Given the description of an element on the screen output the (x, y) to click on. 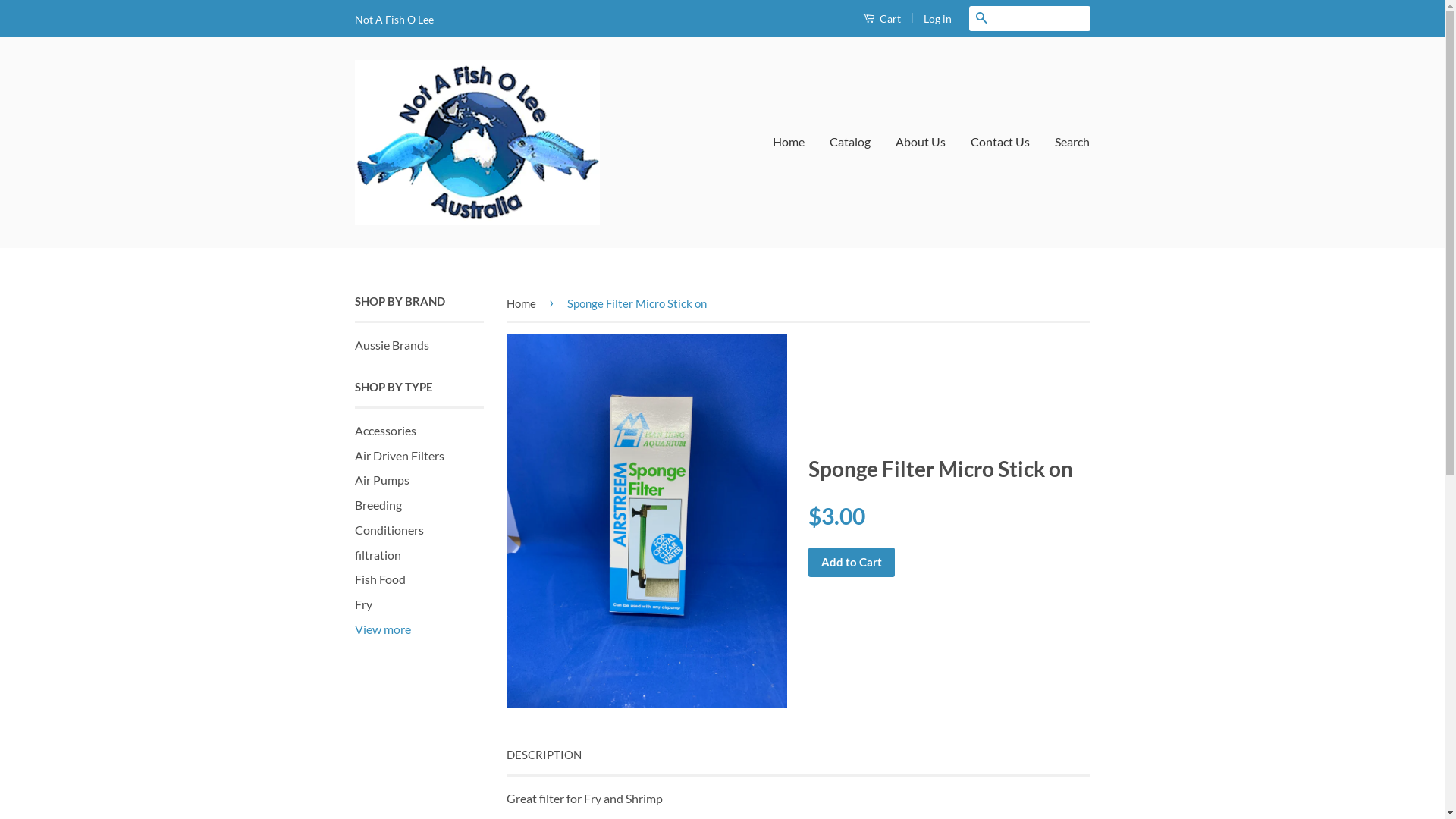
Accessories Element type: text (385, 430)
Air Driven Filters Element type: text (399, 454)
Cart Element type: text (880, 17)
DESCRIPTION Element type: text (543, 754)
Fry Element type: text (363, 603)
Contact Us Element type: text (1000, 141)
Fish Food Element type: text (379, 578)
Search Element type: text (1066, 141)
Home Element type: text (793, 141)
Air Pumps Element type: text (381, 479)
About Us Element type: text (920, 141)
Breeding Element type: text (377, 504)
Aussie Brands Element type: text (391, 344)
Conditioners Element type: text (388, 529)
Search Element type: text (981, 18)
Home Element type: text (523, 303)
View more Element type: text (382, 629)
filtration Element type: text (377, 554)
Add to Cart Element type: text (851, 562)
Catalog Element type: text (849, 141)
Log in Element type: text (937, 18)
